Given the description of an element on the screen output the (x, y) to click on. 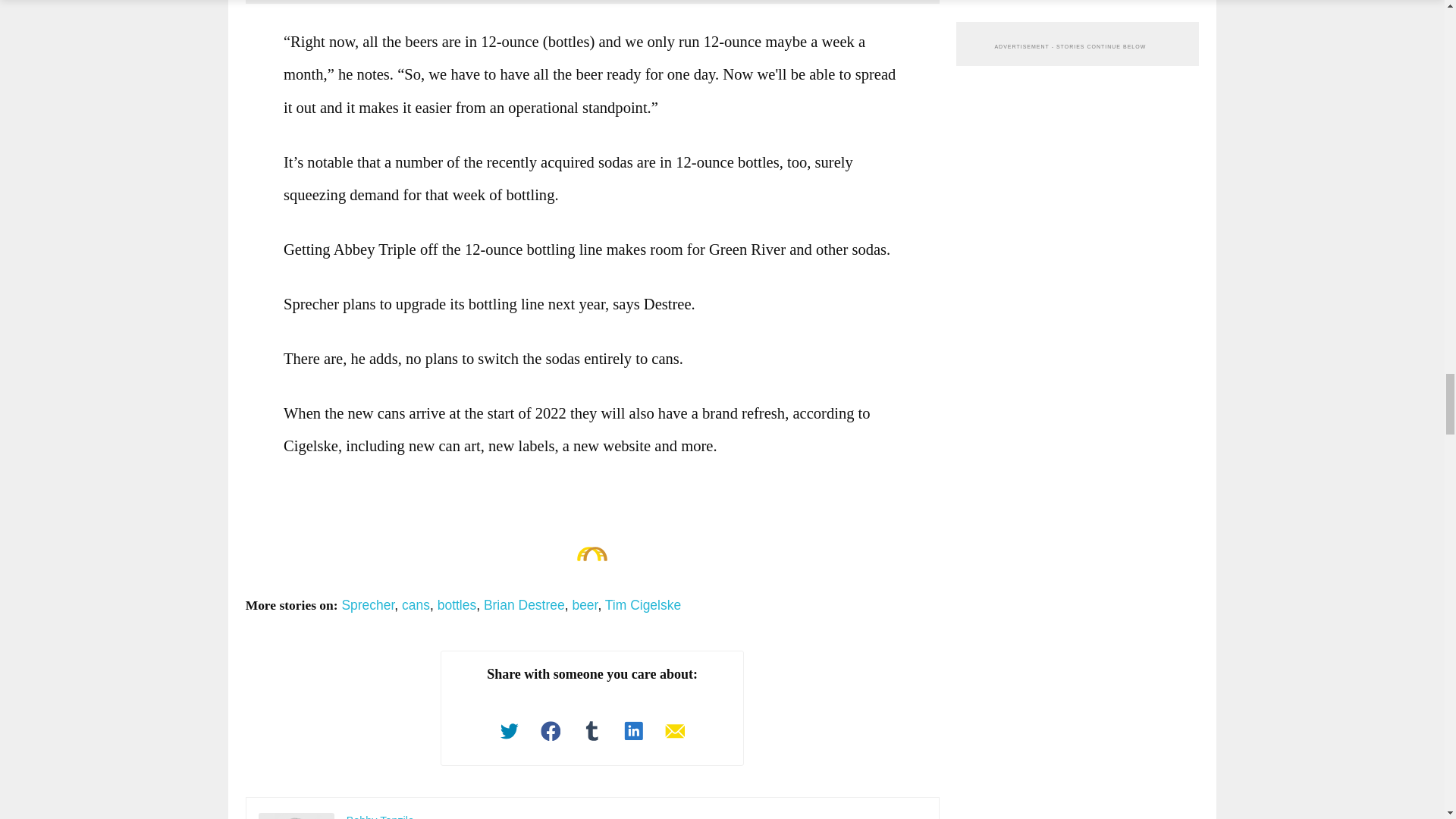
Sprecher (367, 604)
cans (415, 604)
beer (584, 604)
Brian Destree (523, 604)
bottles (457, 604)
Bobby Tanzilo (296, 816)
Tim Cigelske (643, 604)
